Given the description of an element on the screen output the (x, y) to click on. 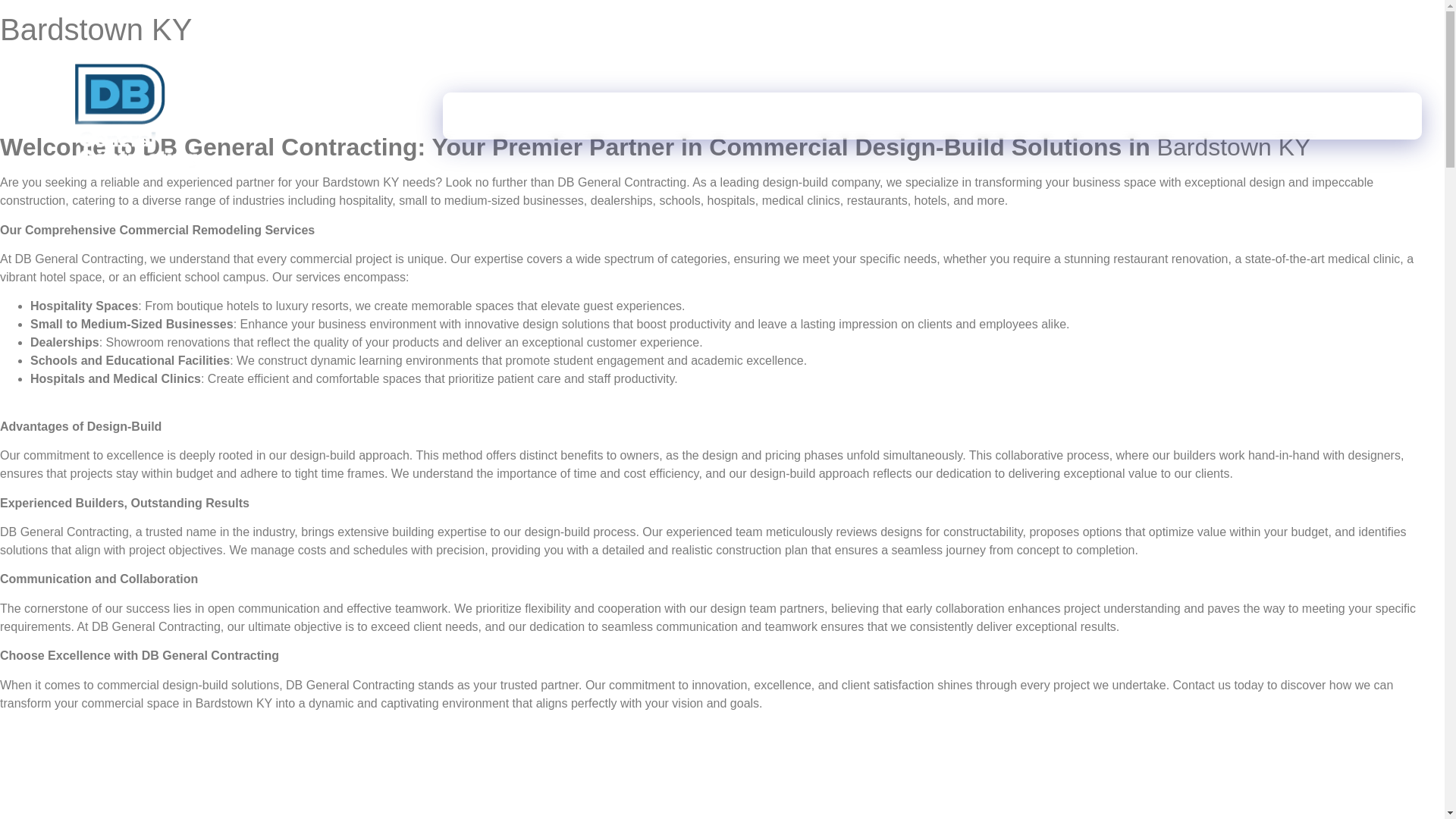
GALLERY (800, 115)
GET STARTED (1037, 115)
PERGOLA X (1160, 115)
INSPIRATION (911, 115)
ABOUT US (698, 115)
